Given the description of an element on the screen output the (x, y) to click on. 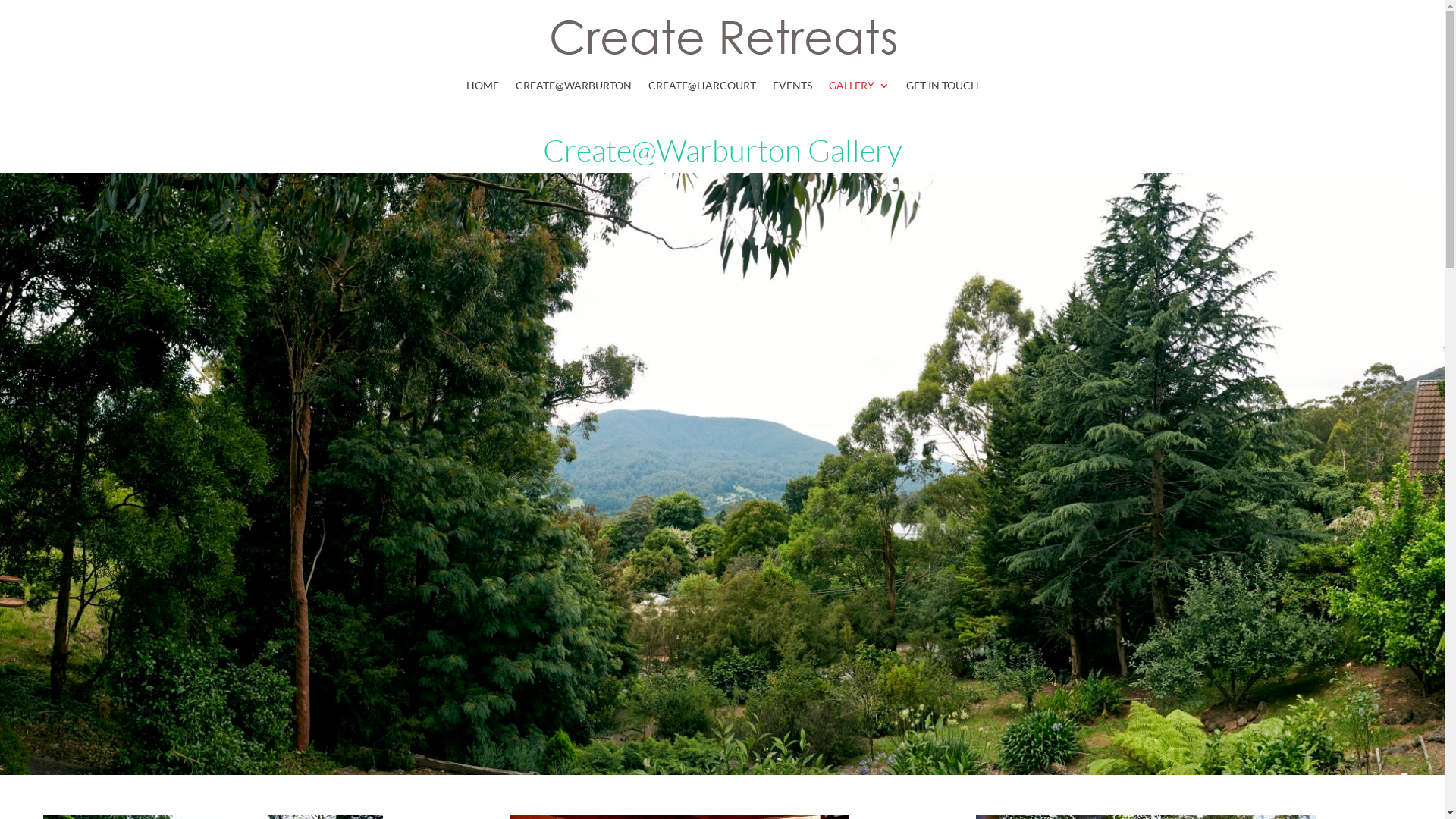
CREATE@HARCOURT Element type: text (701, 92)
HOME Element type: text (481, 92)
CREATE@WARBURTON Element type: text (573, 92)
EVENTS Element type: text (791, 92)
GALLERY Element type: text (858, 92)
GET IN TOUCH Element type: text (941, 92)
